Given the description of an element on the screen output the (x, y) to click on. 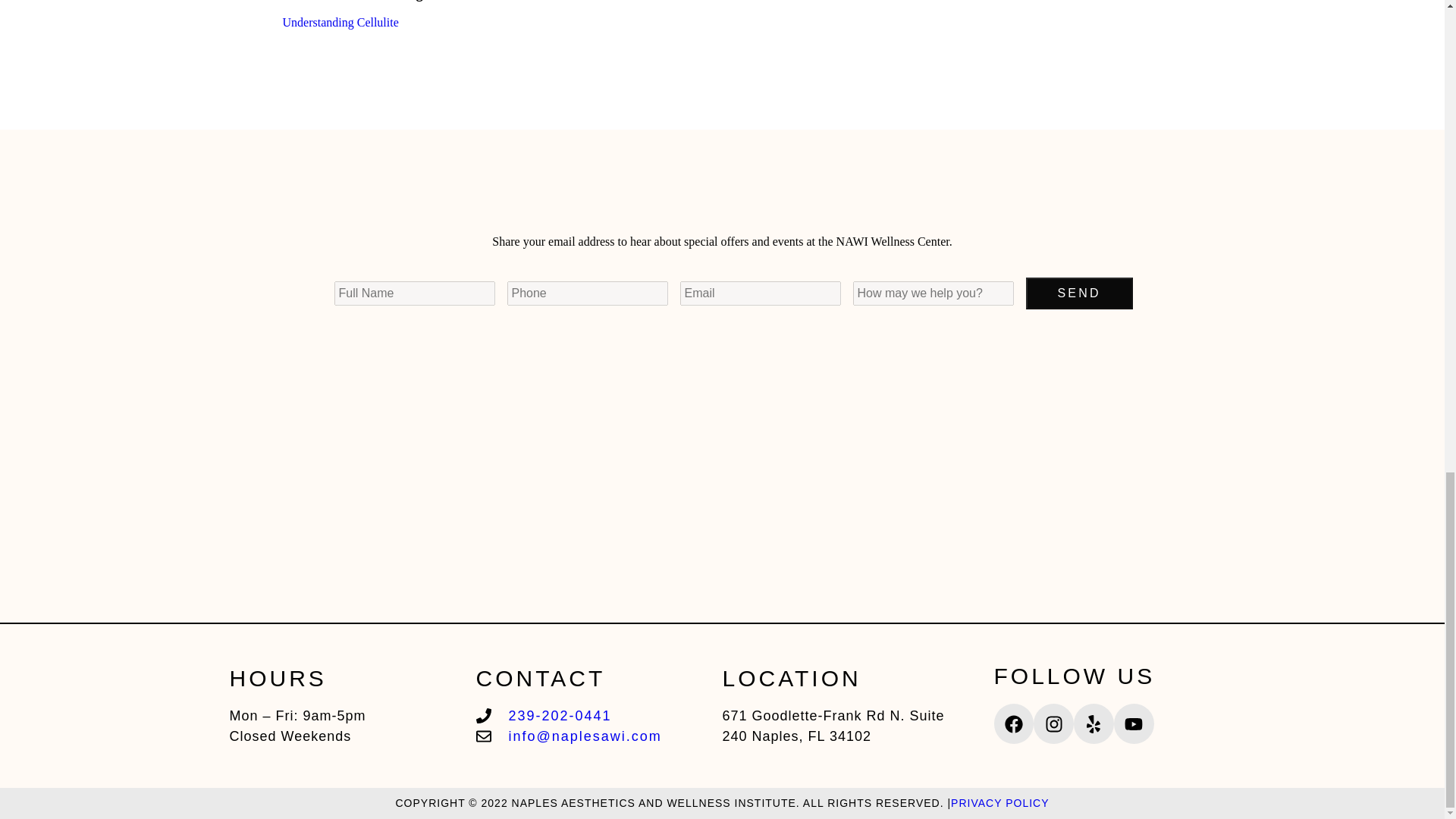
Send (1078, 293)
